Given the description of an element on the screen output the (x, y) to click on. 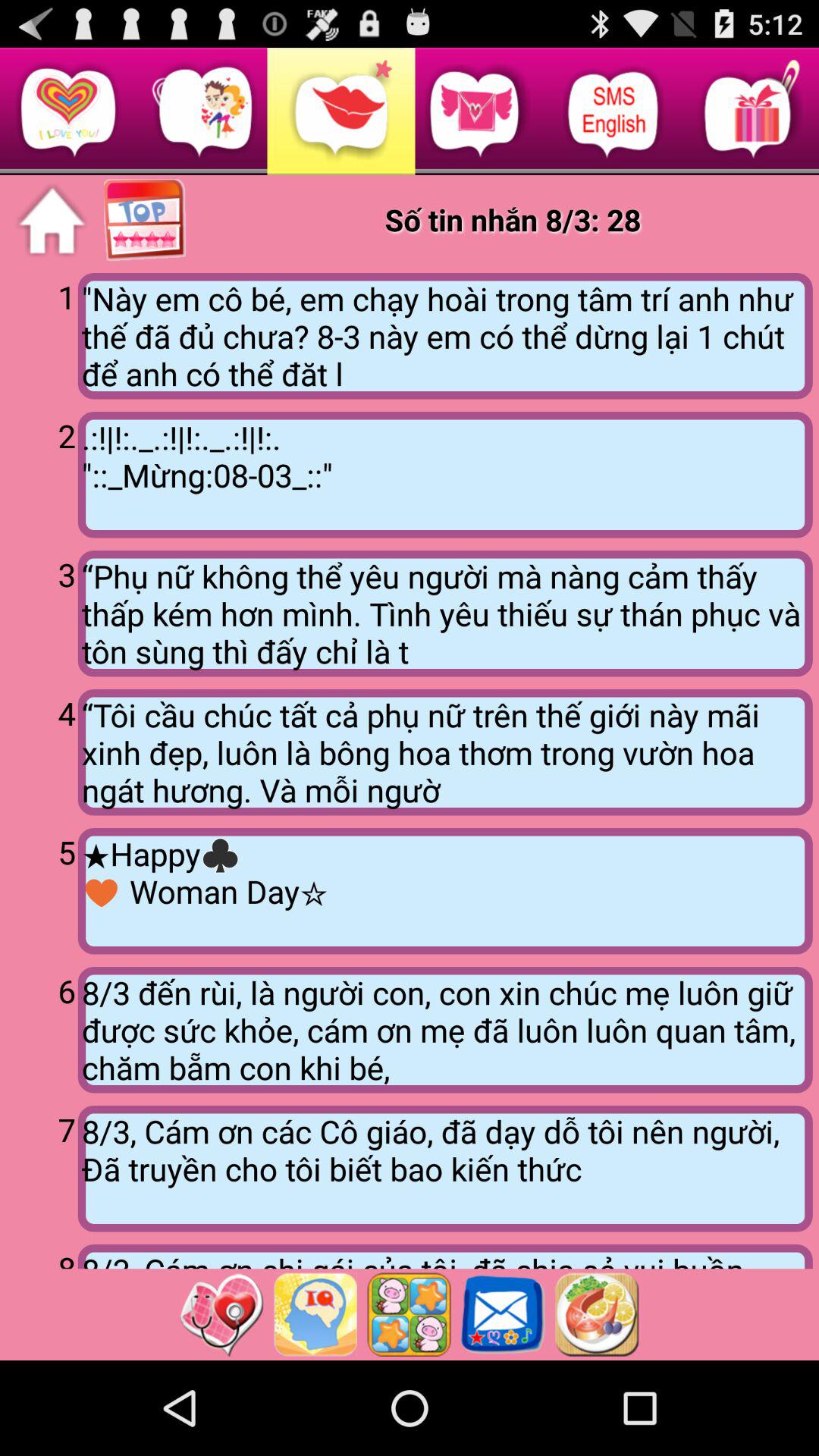
advertisent page (315, 1314)
